Given the description of an element on the screen output the (x, y) to click on. 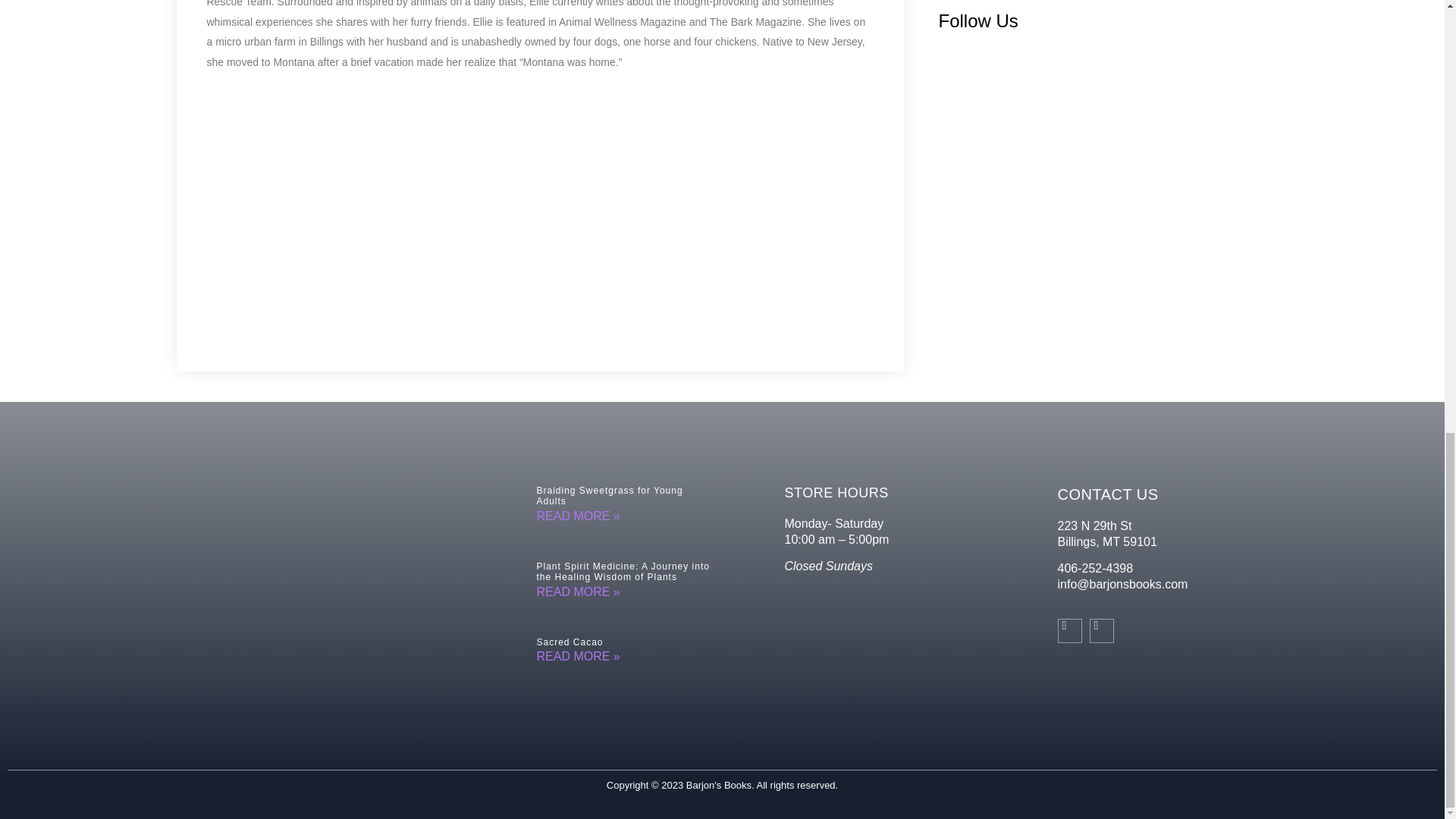
Sacred Cacao (570, 642)
Braiding Sweetgrass for Young Adults (609, 495)
